Given the description of an element on the screen output the (x, y) to click on. 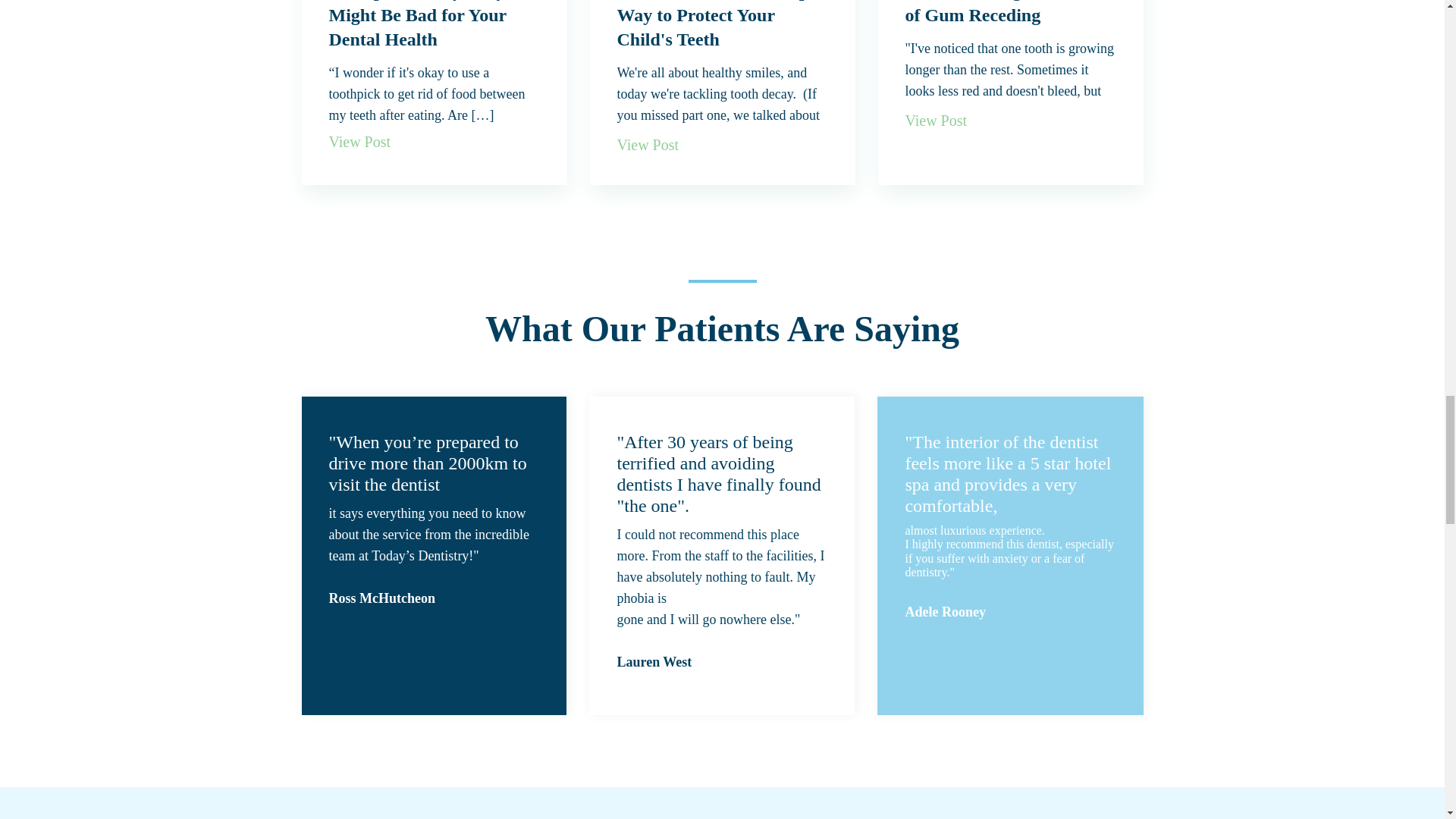
View Post (936, 120)
Understanding the Risks of Gum Receding (1001, 12)
View Post (648, 144)
View Post (360, 142)
Fissure Sealants: A Simple Way to Protect Your Child's Teeth (719, 24)
Toothpicks: Why They Might Be Bad for Your Dental Health (417, 24)
